Given the description of an element on the screen output the (x, y) to click on. 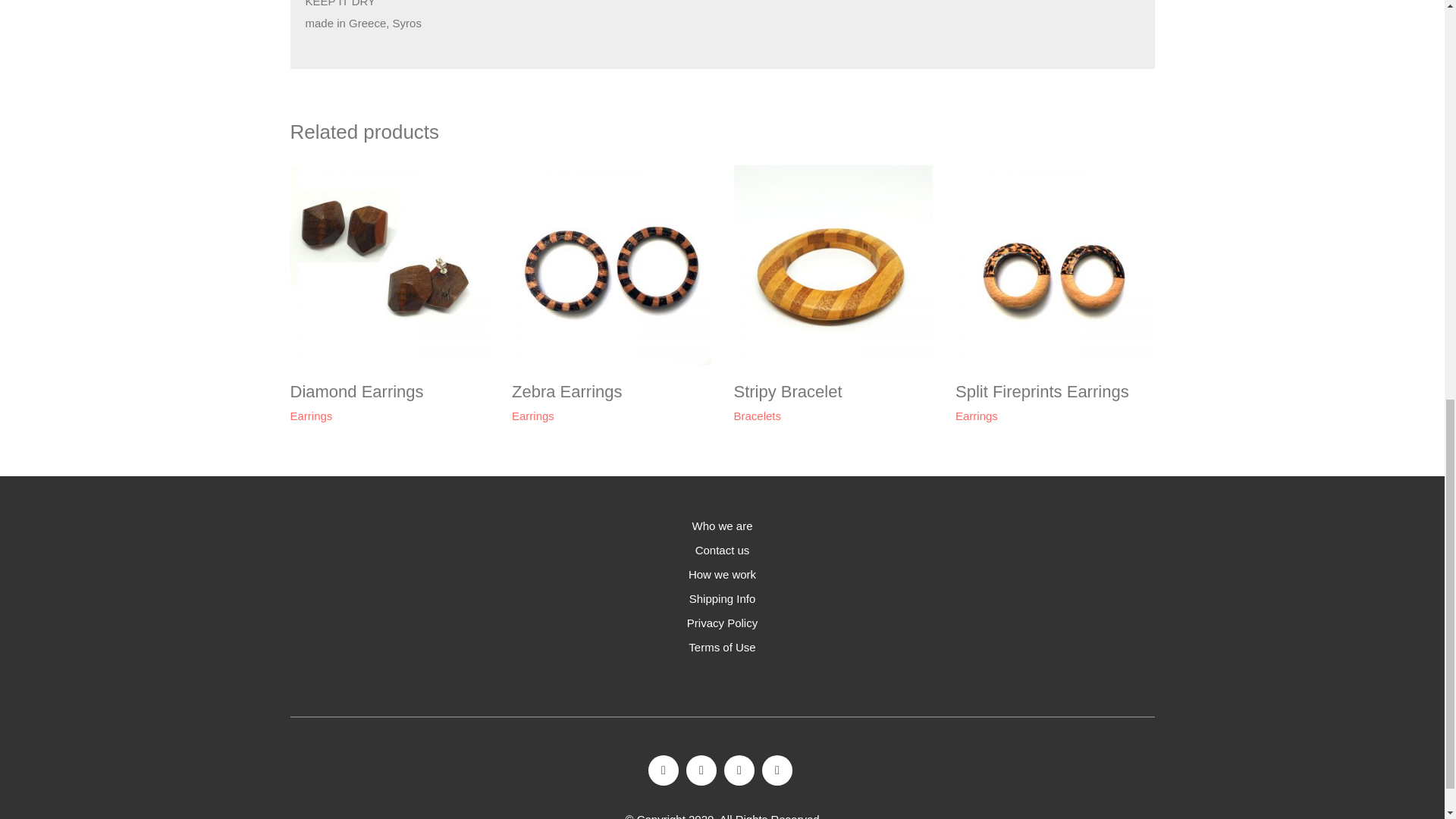
Pinterest (738, 770)
Facebook (662, 770)
Instagram (700, 770)
YouTube (776, 770)
